Given the description of an element on the screen output the (x, y) to click on. 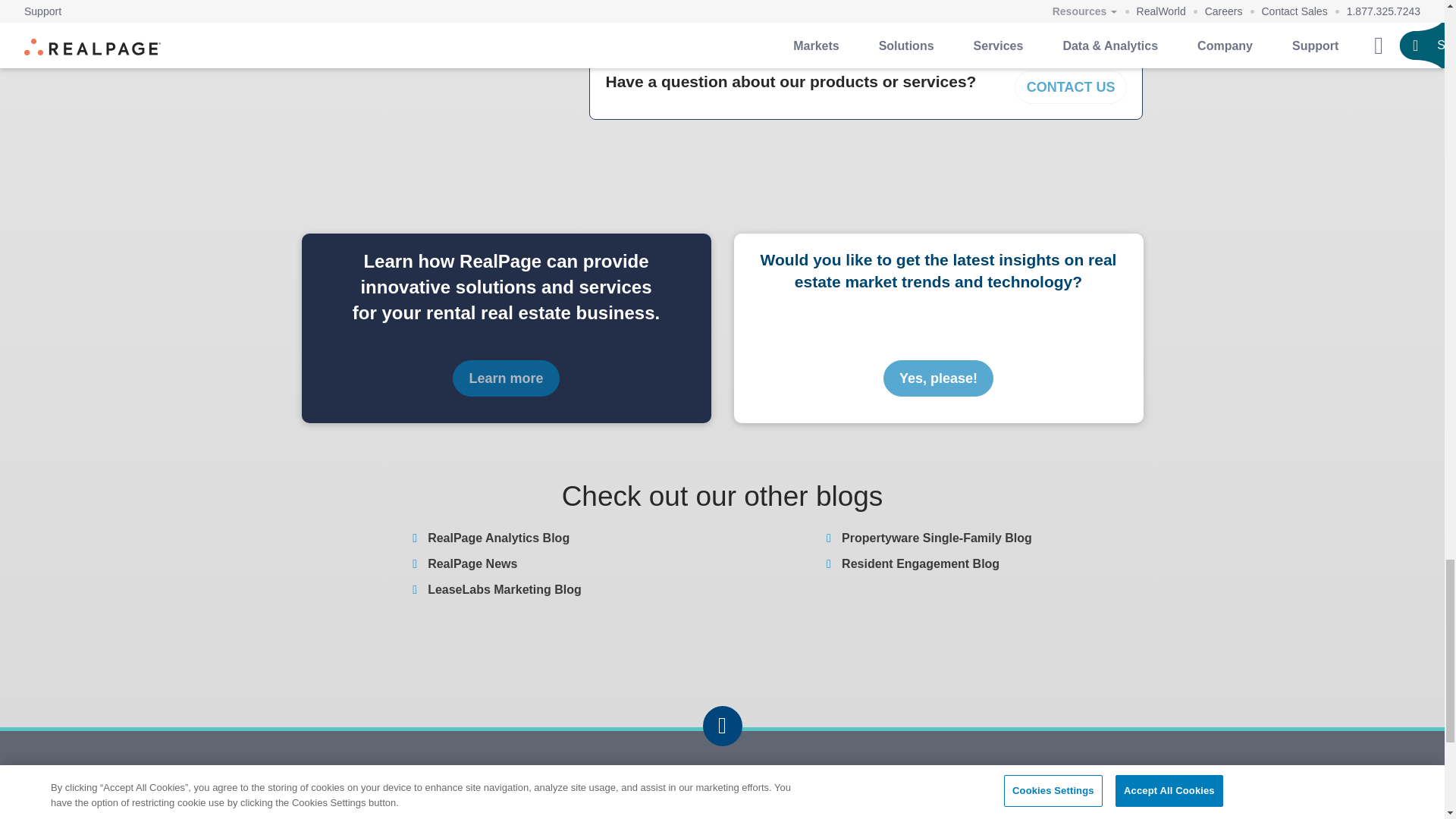
Back to top (721, 725)
